Given the description of an element on the screen output the (x, y) to click on. 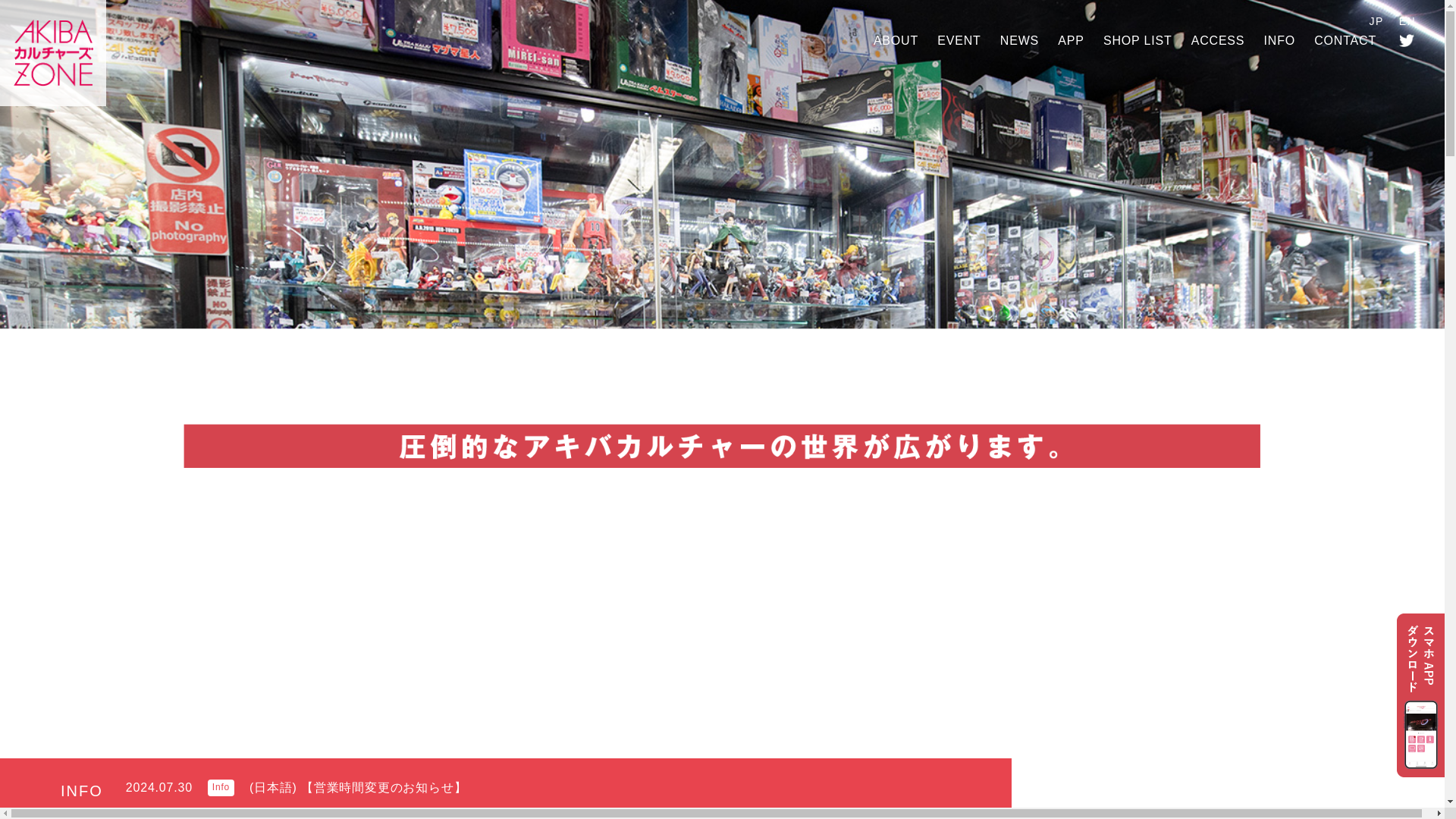
Twitter (1406, 39)
NEWS (1019, 40)
APP (1070, 40)
ABOUT (895, 40)
ABOUT (895, 40)
CONTACT (1344, 40)
ACCESS (1217, 40)
EVENT (958, 40)
JP (1377, 21)
INFO (1279, 40)
SHOP LIST (1137, 40)
EN (1407, 21)
